Given the description of an element on the screen output the (x, y) to click on. 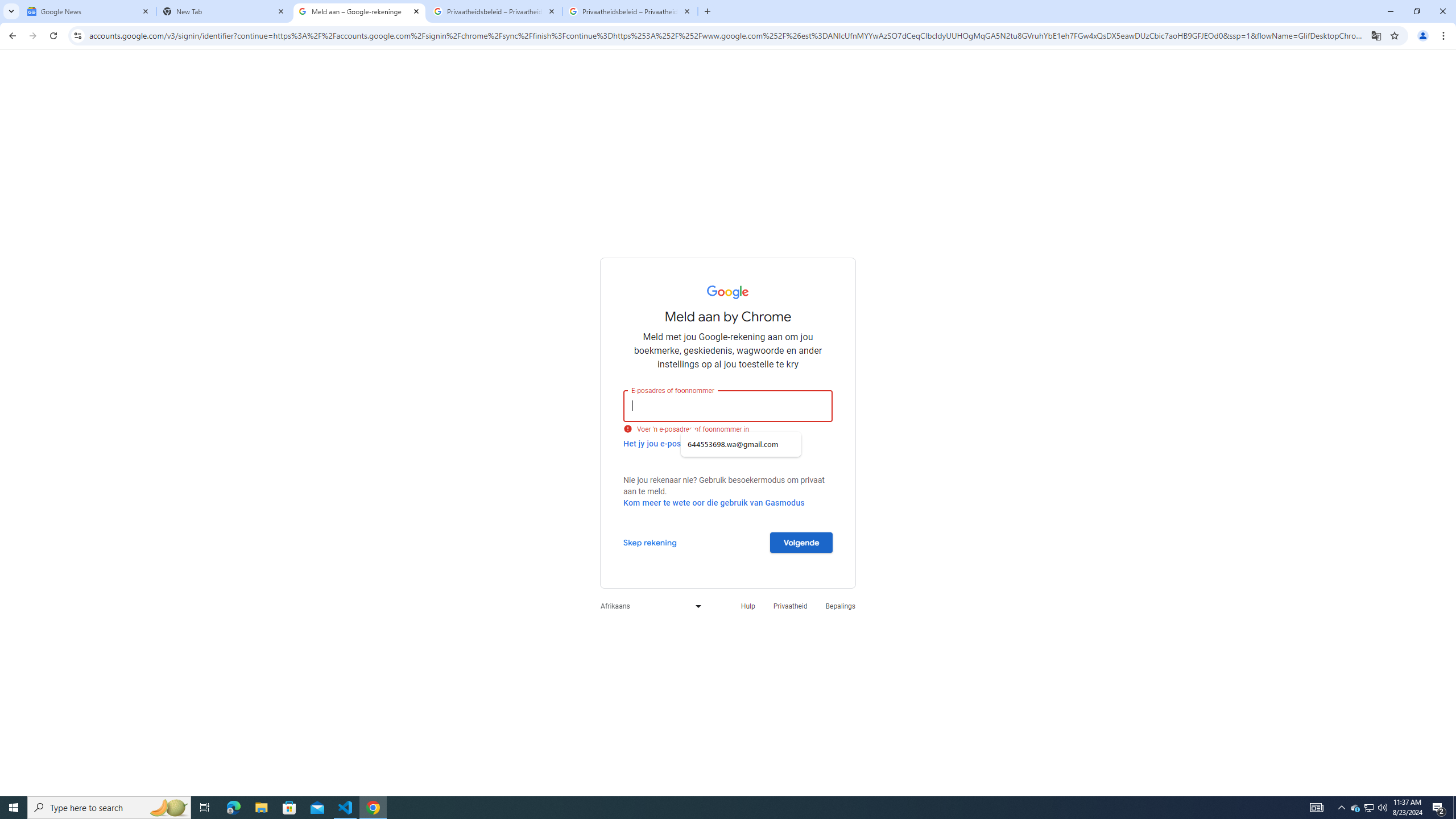
E-posadres of foonnommer (727, 405)
Volgende (801, 541)
New Tab (224, 11)
